Given the description of an element on the screen output the (x, y) to click on. 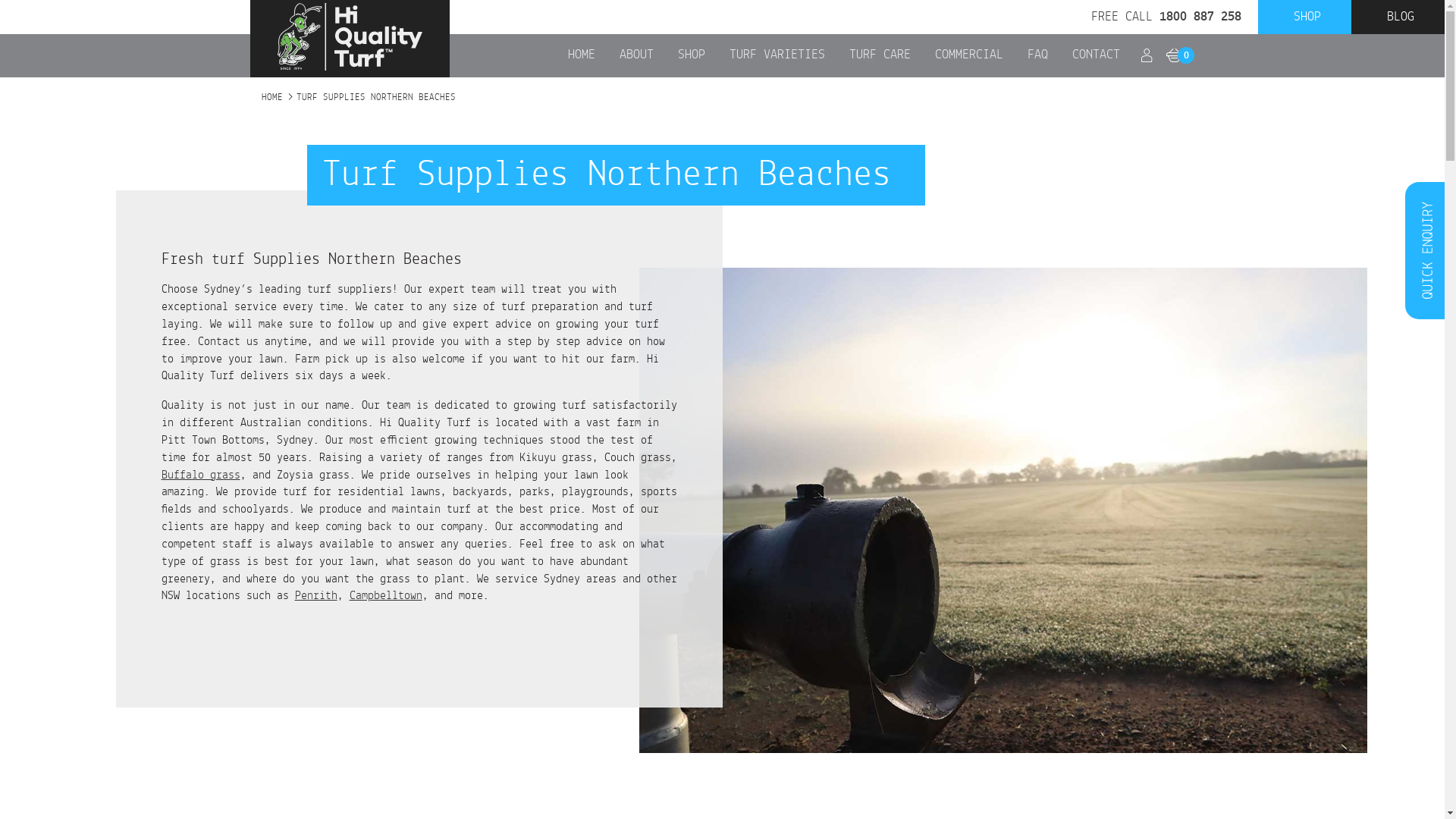
HOME Element type: text (271, 97)
SHOP Element type: text (691, 55)
COMMERCIAL Element type: text (968, 55)
BLOG Element type: text (1400, 17)
TURF CARE Element type: text (879, 55)
TURF VARIETIES Element type: text (777, 55)
User Login Element type: hover (1146, 56)
0 Element type: text (1173, 56)
SHOP Element type: text (1307, 17)
CONTACT Element type: text (1096, 55)
HOME Element type: text (581, 55)
Campbelltown Element type: text (384, 595)
ABOUT Element type: text (636, 55)
1800 887 258 Element type: text (1200, 16)
FAQ Element type: text (1037, 55)
QUICK ENQUIRY Element type: text (1424, 250)
Penrith Element type: text (315, 595)
Buffalo grass Element type: text (199, 475)
